Given the description of an element on the screen output the (x, y) to click on. 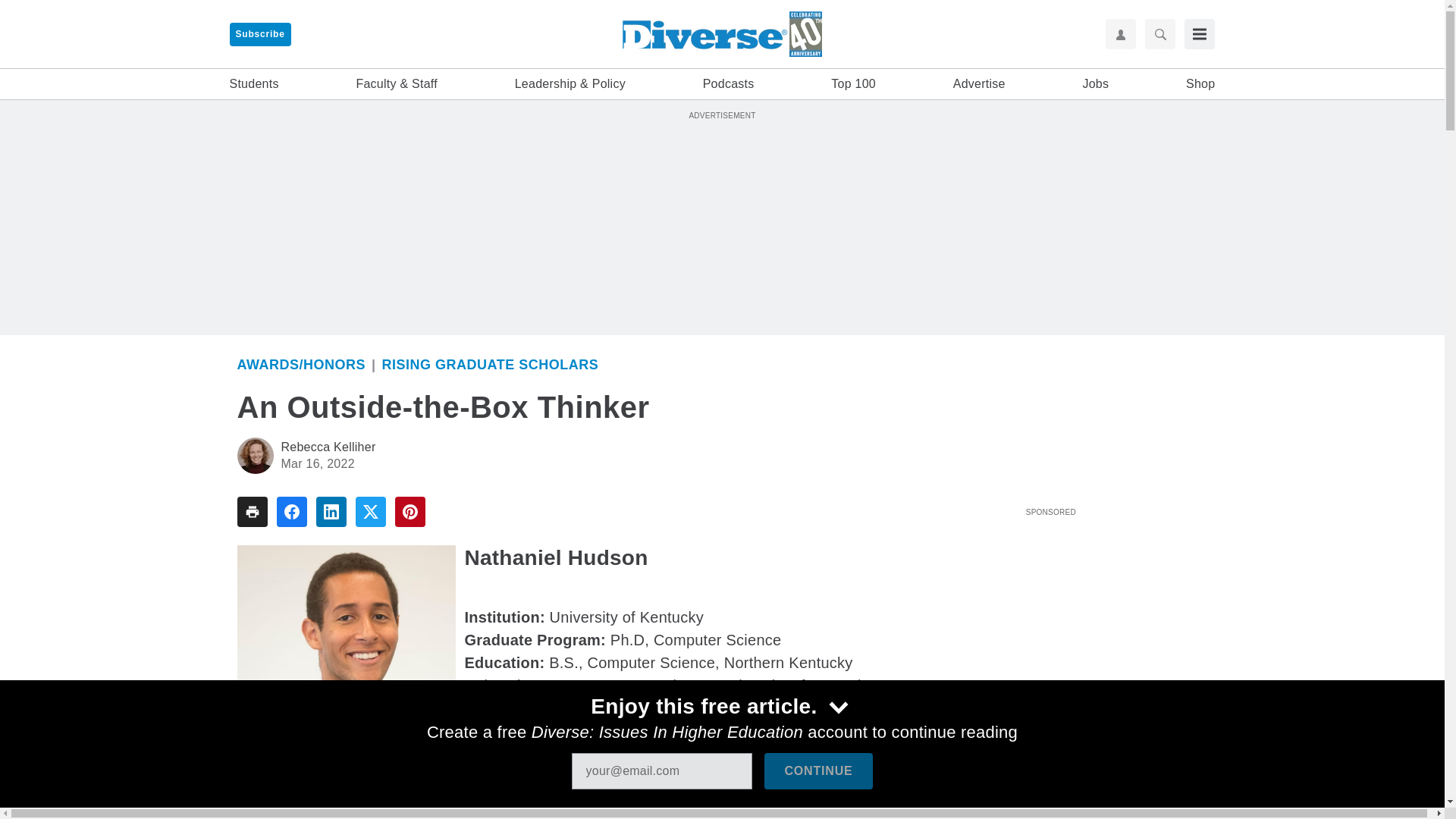
Advertise (979, 84)
Subscribe (258, 33)
Subscribe (258, 33)
Share To linkedin (330, 511)
Share To print (250, 511)
Students (253, 84)
Top 100 (853, 84)
Share To pinterest (409, 511)
Share To facebook (290, 511)
Share To twitter (370, 511)
